Given the description of an element on the screen output the (x, y) to click on. 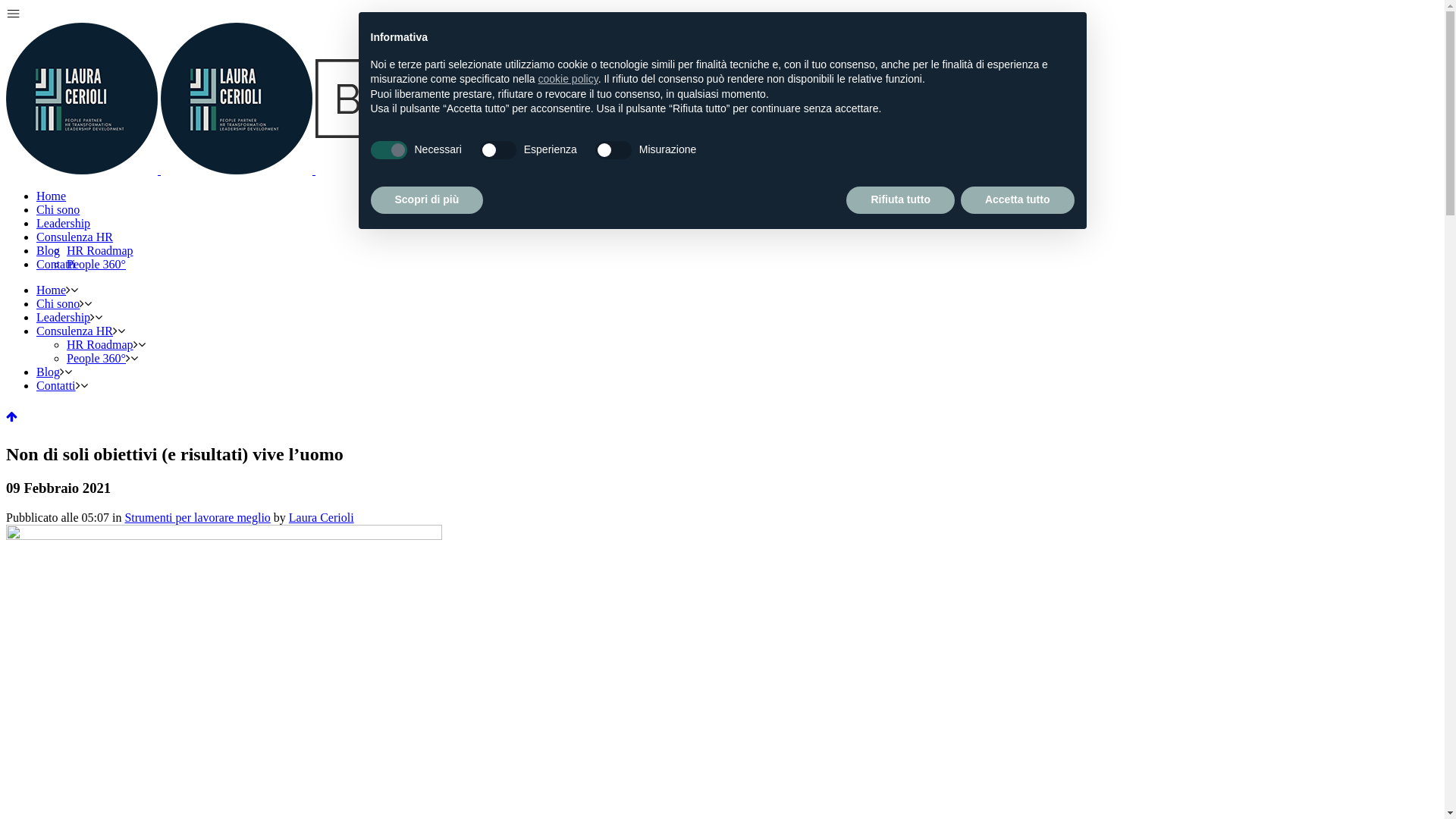
Blog Element type: text (47, 371)
Consulenza HR Element type: text (74, 330)
Consulenza HR Element type: text (74, 236)
Laura Cerioli Element type: text (321, 517)
Home Element type: text (50, 195)
Home Element type: text (50, 289)
Rifiuta tutto Element type: text (900, 199)
Chi sono Element type: text (57, 303)
Contatti Element type: text (55, 385)
Blog Element type: text (47, 250)
Leadership Element type: text (63, 316)
Leadership Element type: text (63, 222)
Strumenti per lavorare meglio Element type: text (196, 517)
HR Roadmap Element type: text (99, 250)
Accetta tutto Element type: text (1017, 199)
HR Roadmap Element type: text (99, 344)
Chi sono Element type: text (57, 209)
cookie policy Element type: text (568, 78)
Contatti Element type: text (55, 263)
